Given the description of an element on the screen output the (x, y) to click on. 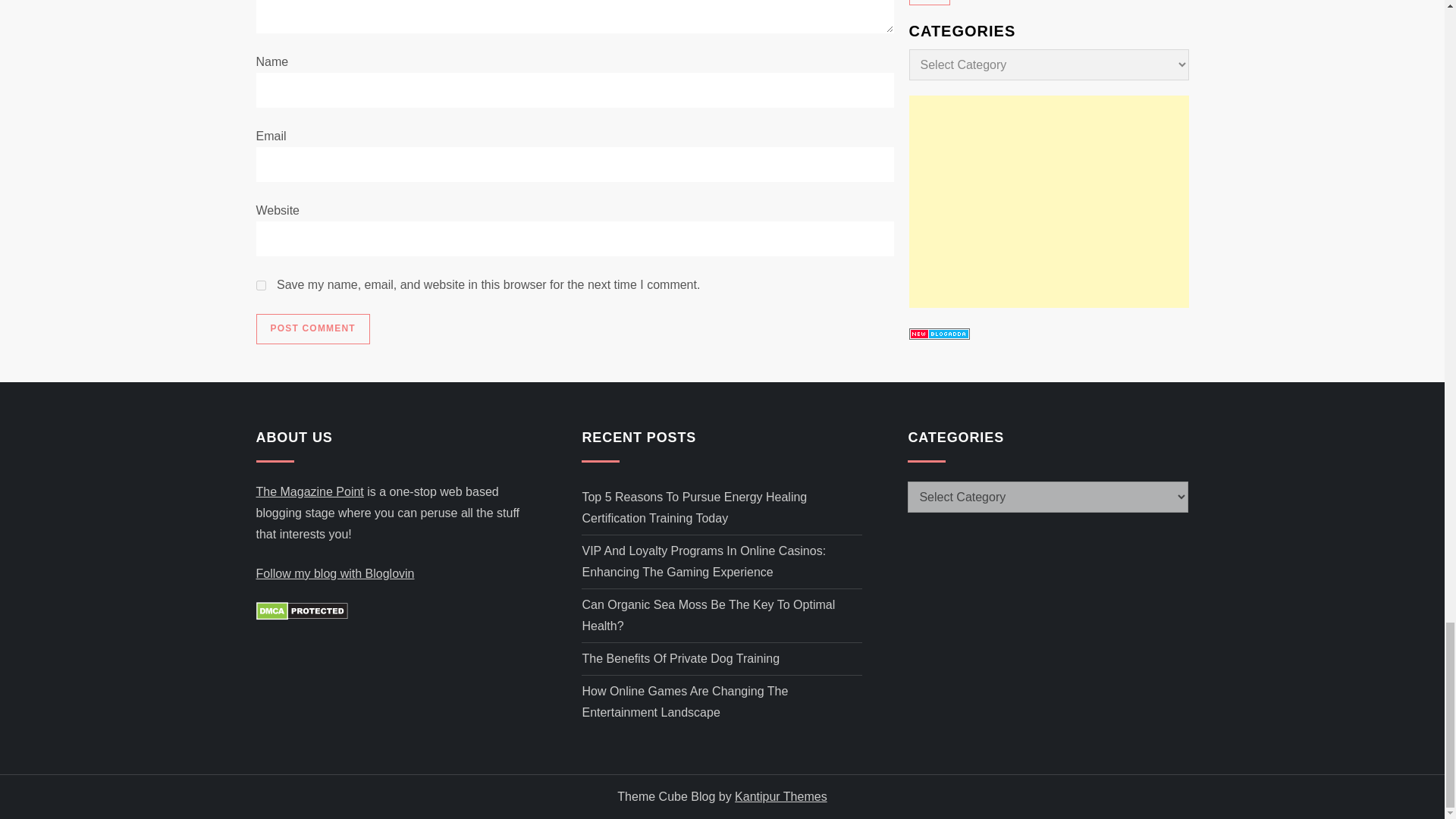
DMCA.com Protection Status (301, 609)
Post Comment (312, 328)
yes (261, 285)
